Given the description of an element on the screen output the (x, y) to click on. 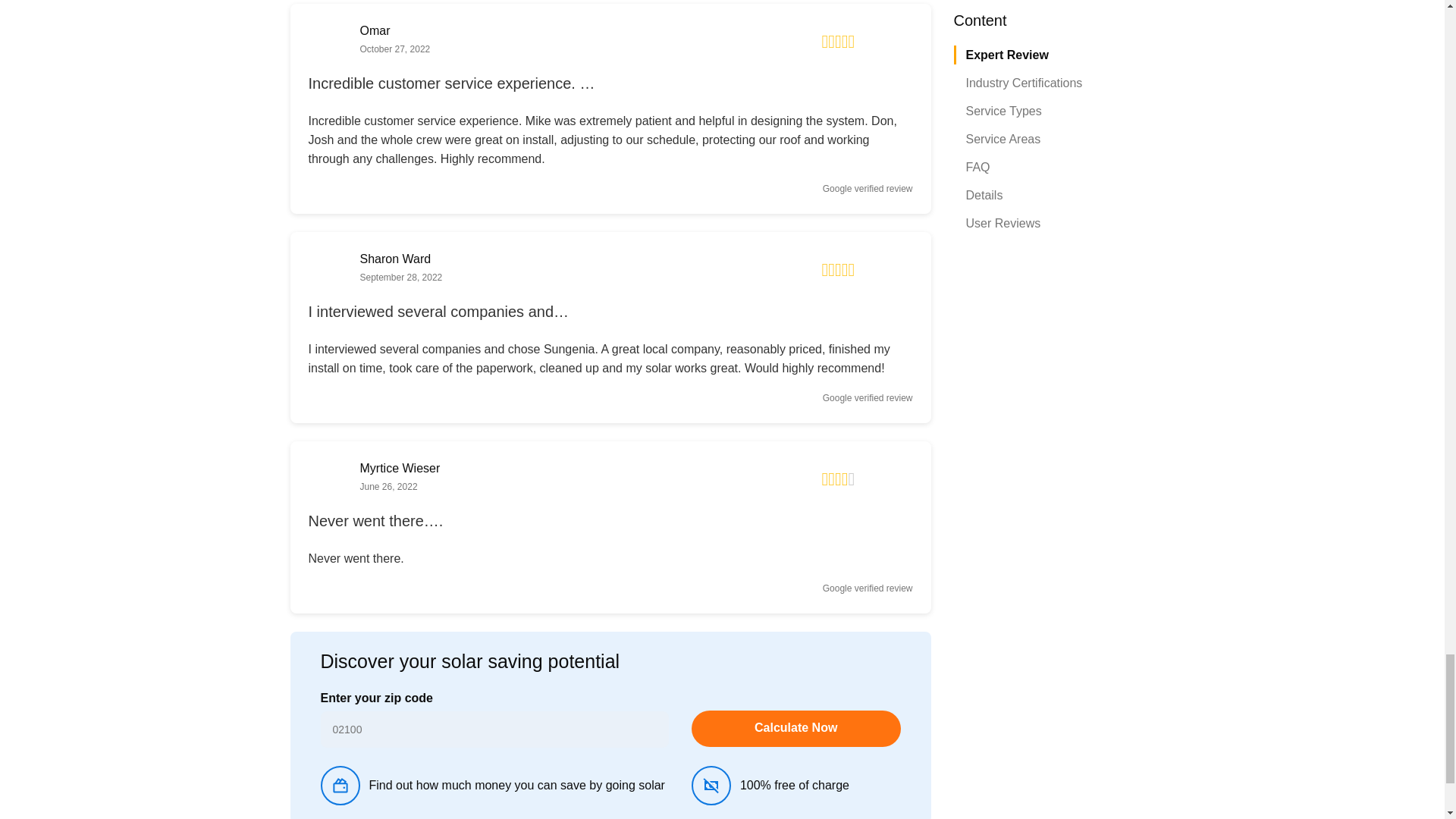
Calculate Now (796, 728)
